Given the description of an element on the screen output the (x, y) to click on. 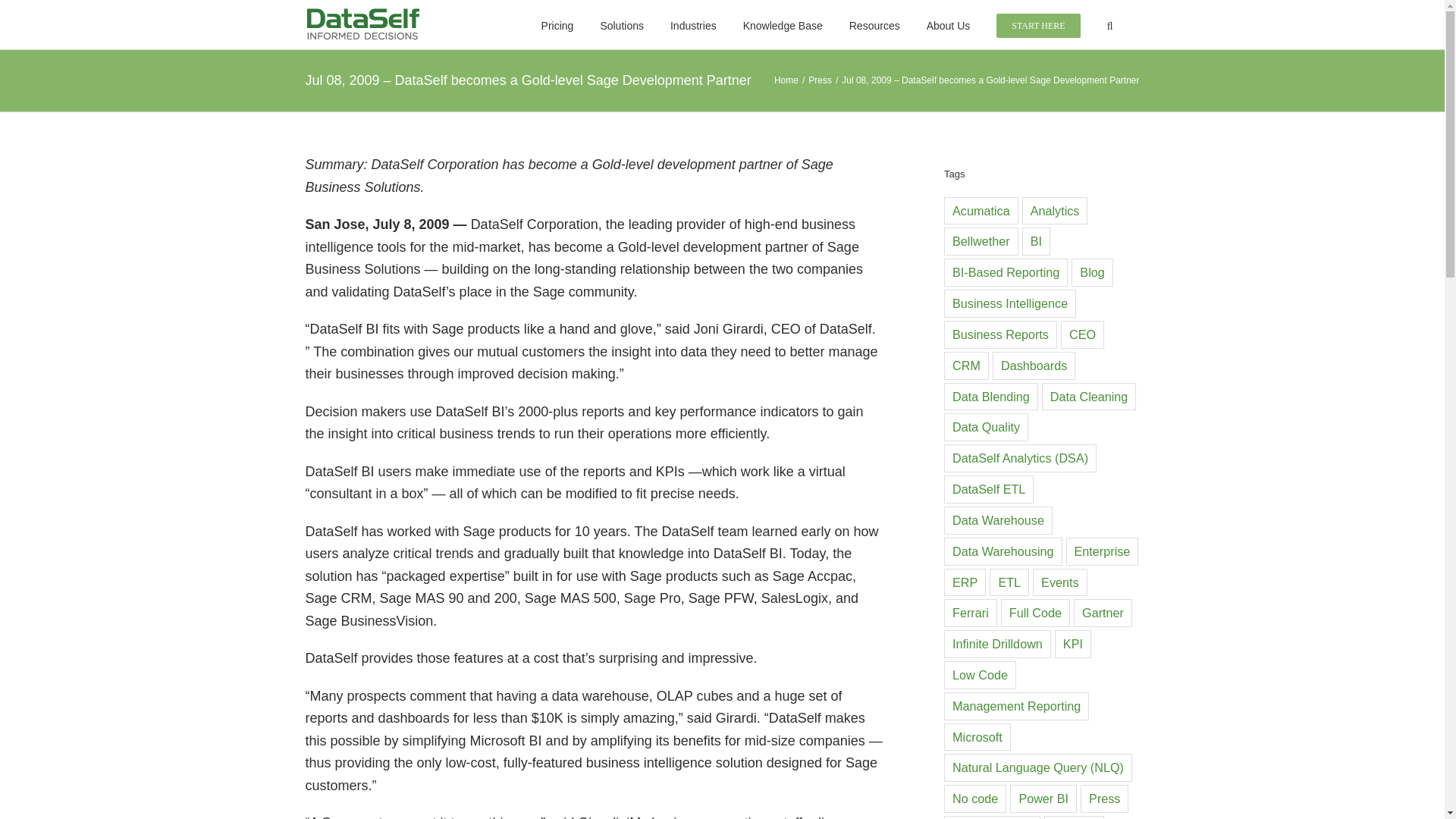
Knowledge Base (782, 24)
Resources (873, 24)
Solutions (621, 24)
Industries (692, 24)
About Us (948, 24)
